Given the description of an element on the screen output the (x, y) to click on. 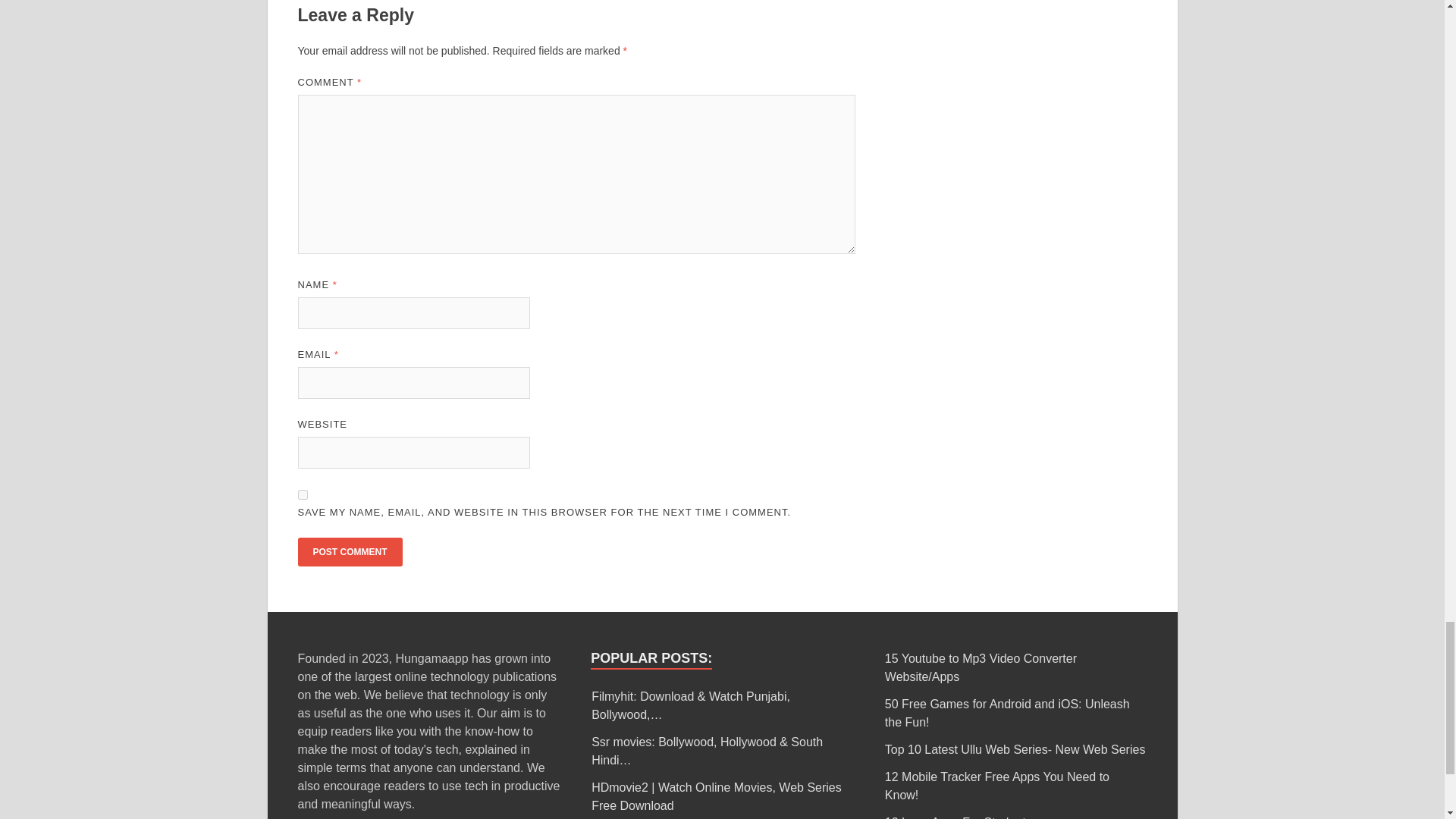
yes (302, 494)
Post Comment (349, 551)
Post Comment (349, 551)
